Given the description of an element on the screen output the (x, y) to click on. 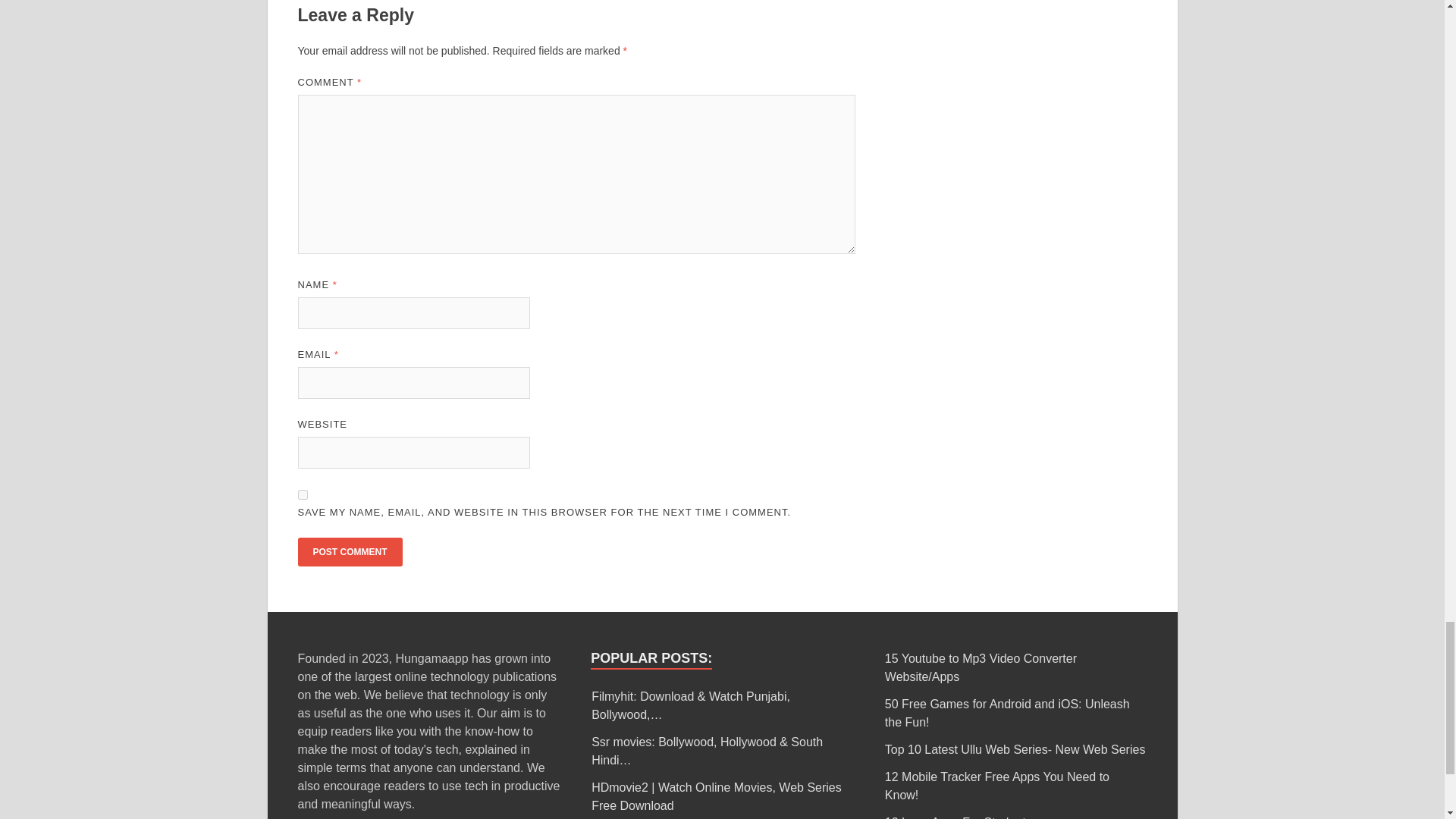
yes (302, 494)
Post Comment (349, 551)
Post Comment (349, 551)
